Given the description of an element on the screen output the (x, y) to click on. 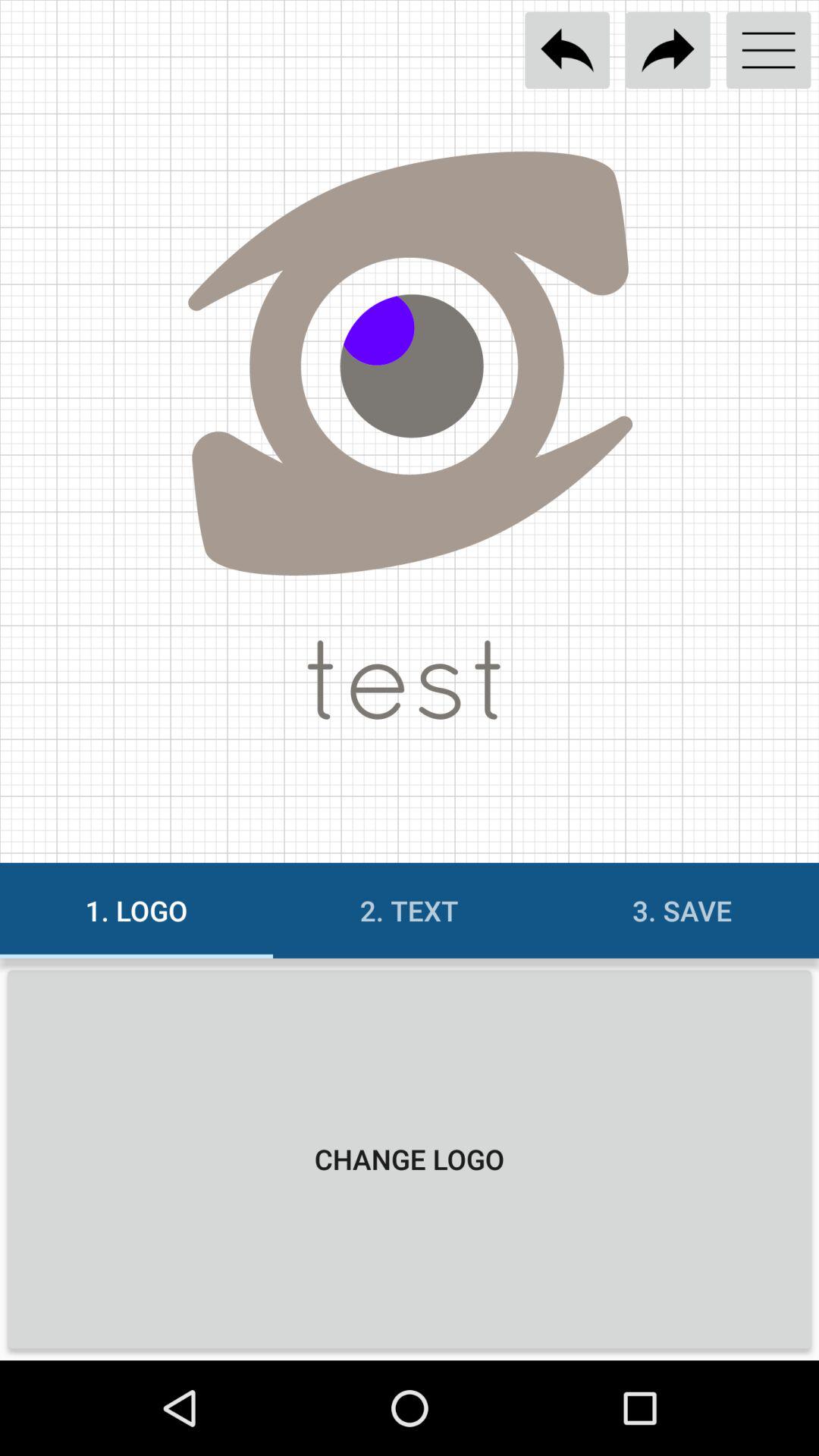
opens an options menu (768, 50)
